Given the description of an element on the screen output the (x, y) to click on. 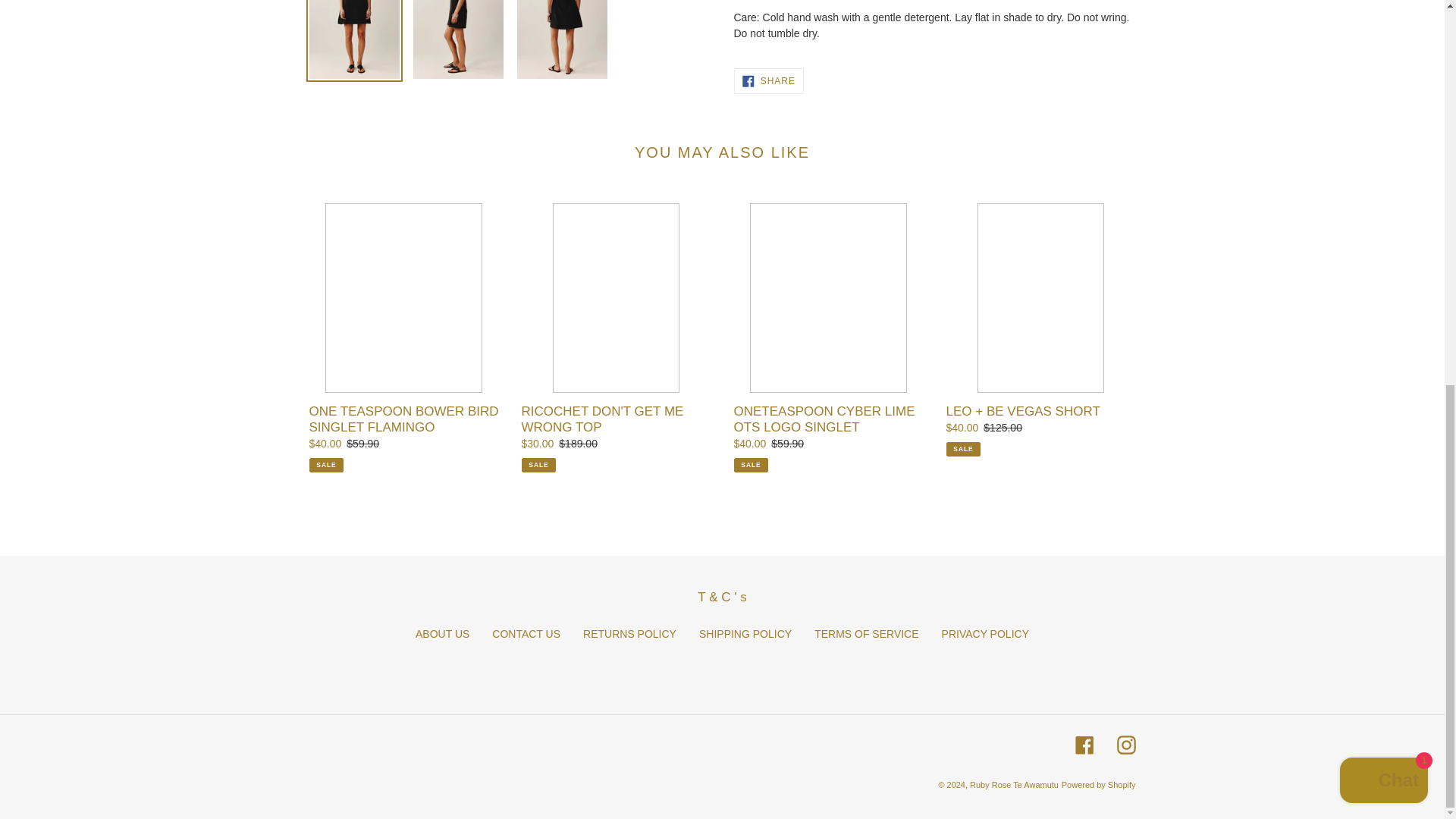
Shopify online store chat (1383, 56)
